Given the description of an element on the screen output the (x, y) to click on. 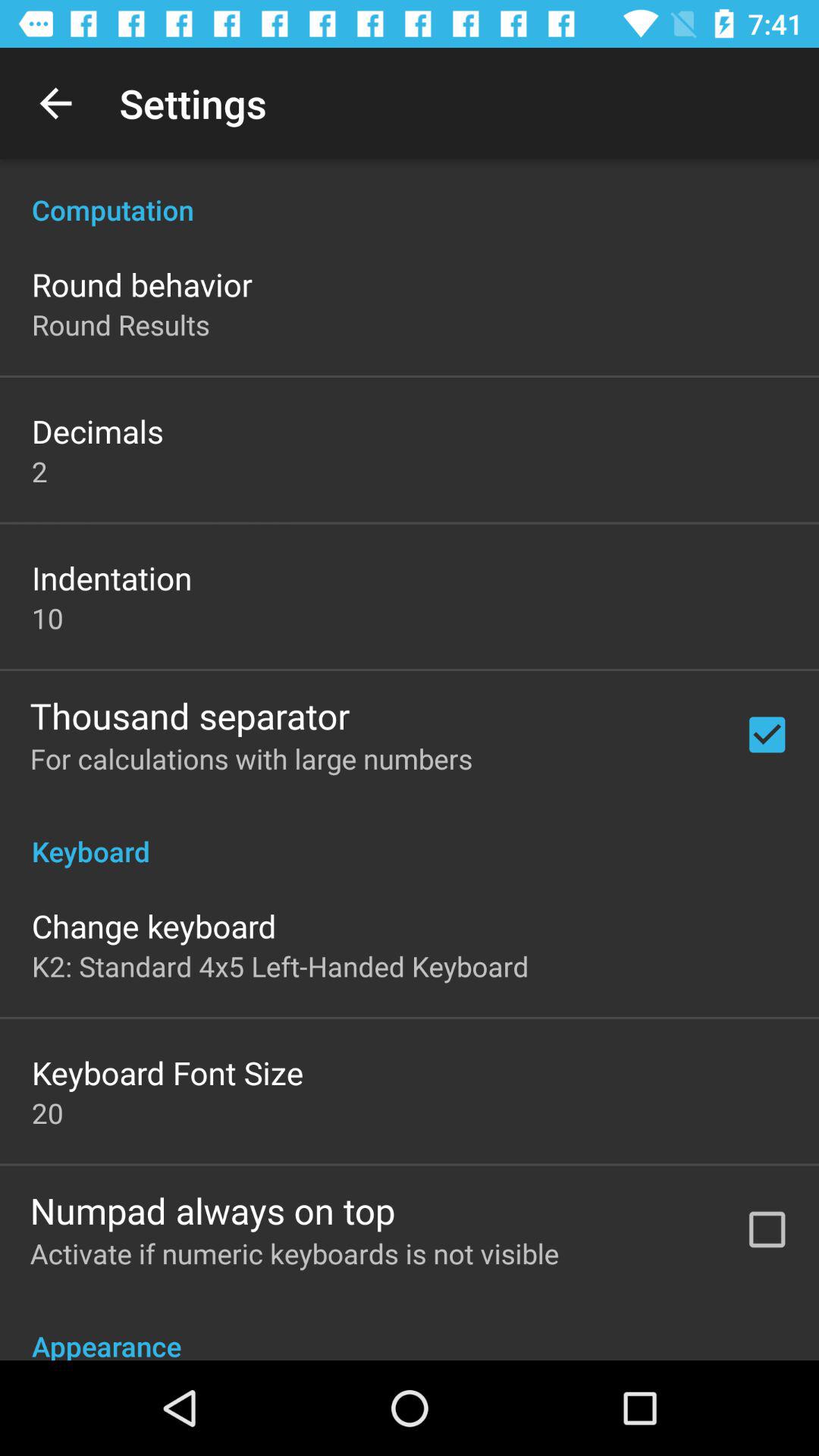
tap icon next to the settings (55, 103)
